Given the description of an element on the screen output the (x, y) to click on. 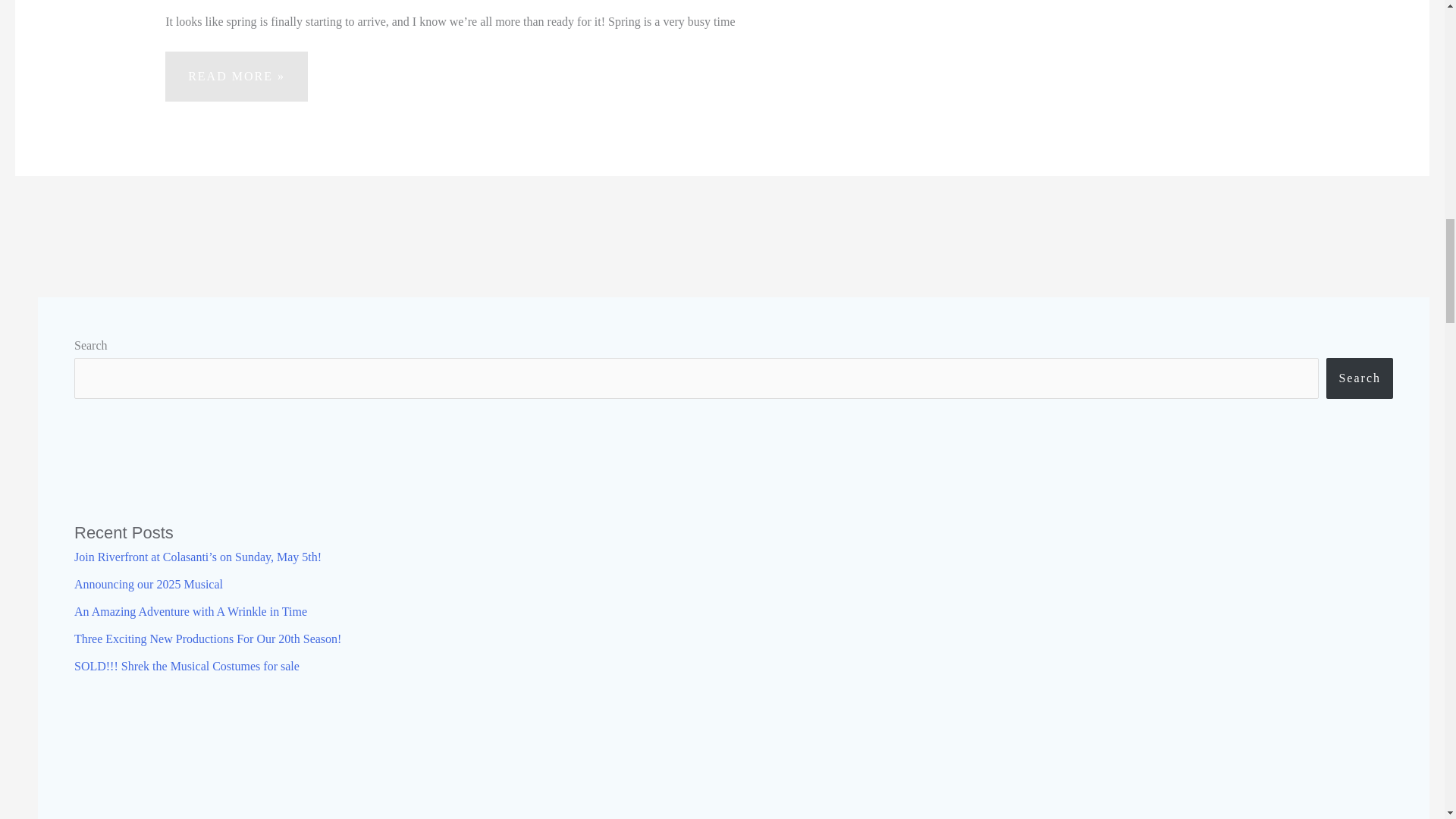
Search (1359, 377)
Three Exciting New Productions For Our 20th Season! (130, 2)
Announcing our 2025 Musical (207, 638)
An Amazing Adventure with A Wrinkle in Time (148, 584)
SOLD!!! Shrek the Musical Costumes for sale (190, 611)
